Given the description of an element on the screen output the (x, y) to click on. 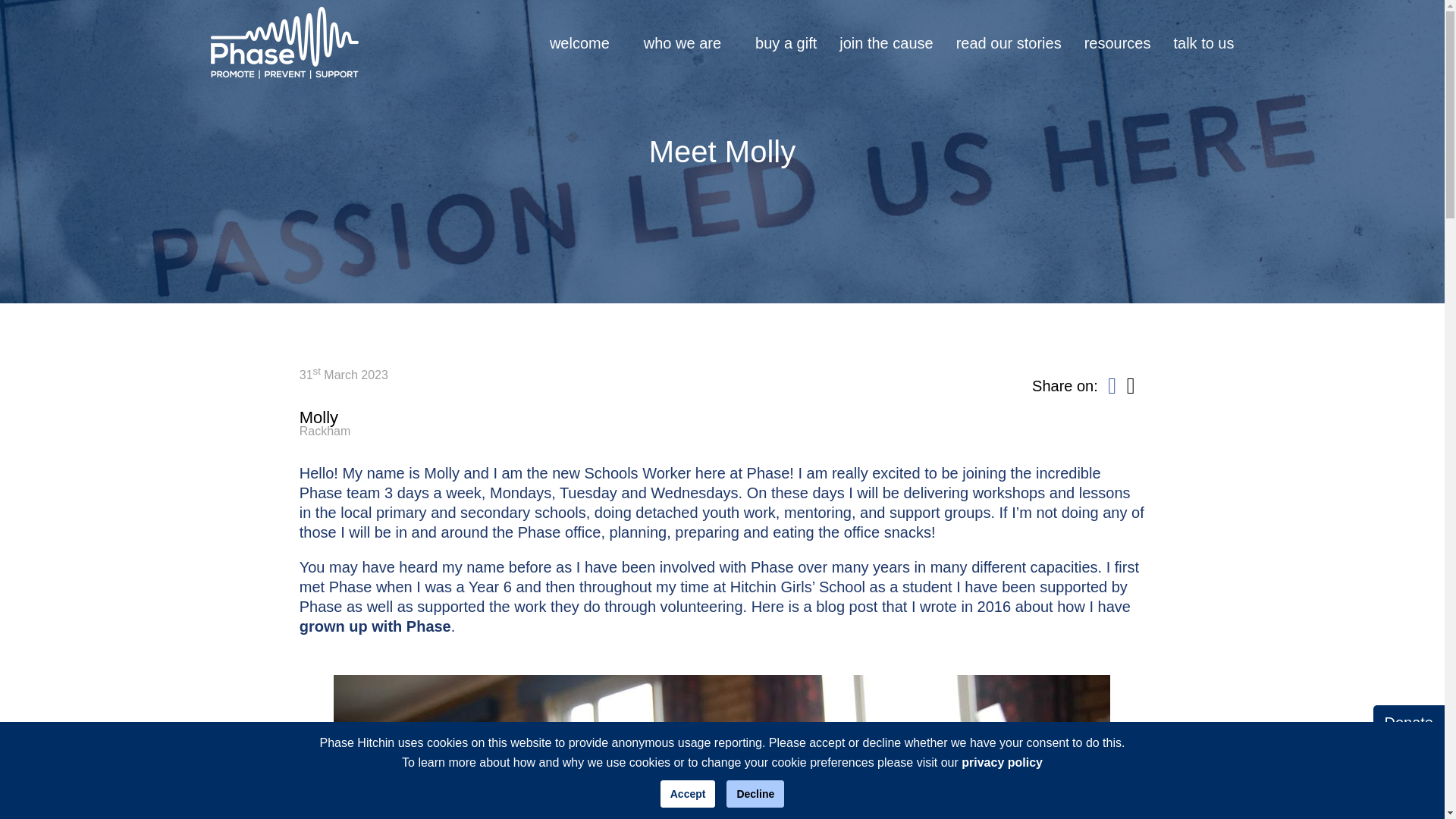
privacy policy (1001, 762)
Decline (755, 793)
Accept (688, 793)
who we are (681, 42)
read our stories (1008, 42)
buy a gift (785, 42)
talk to us (721, 422)
resources (1203, 42)
join the cause (1117, 42)
welcome (886, 42)
grown up with Phase (580, 42)
